Given the description of an element on the screen output the (x, y) to click on. 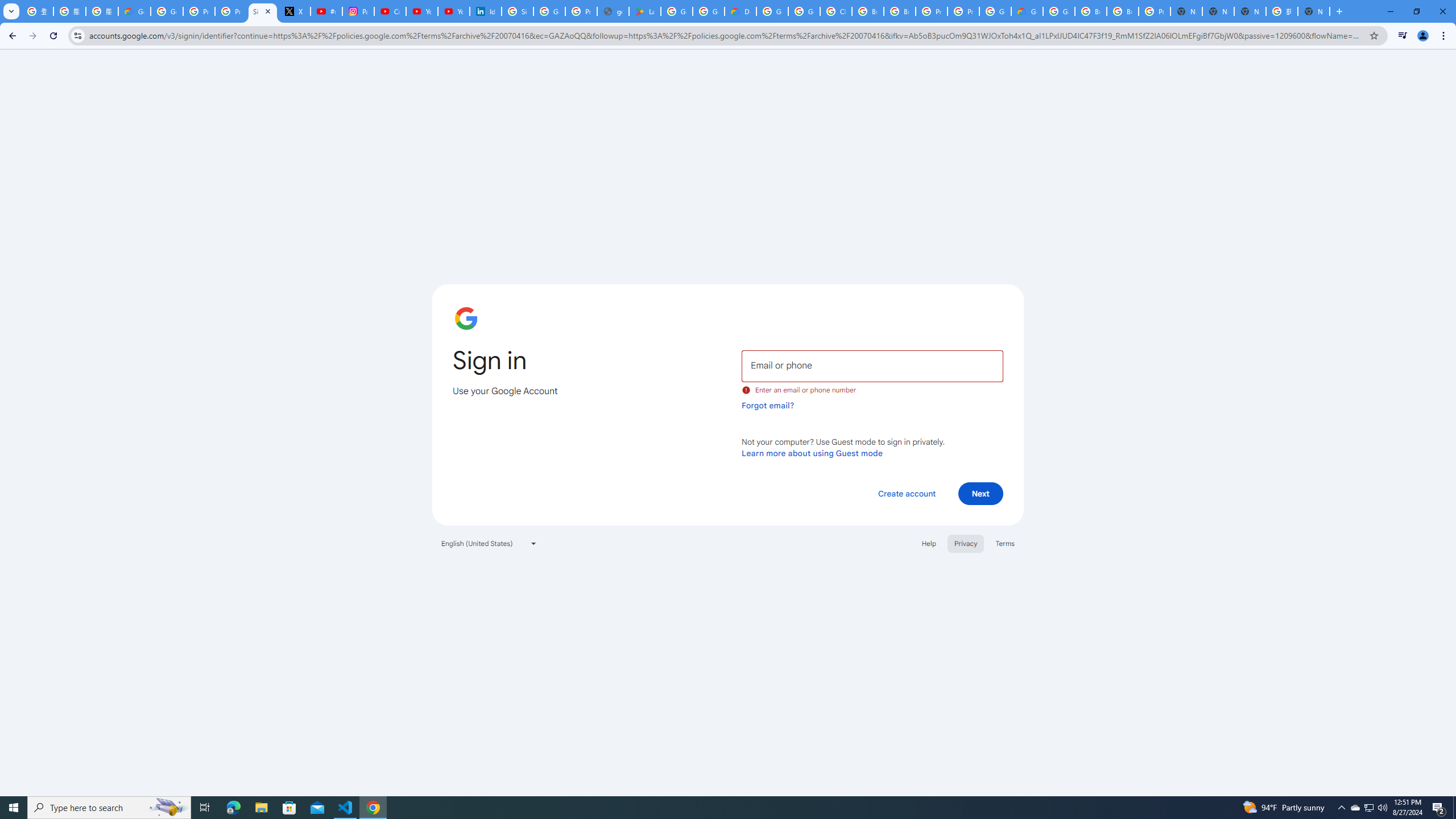
Browse Chrome as a guest - Computer - Google Chrome Help (868, 11)
Next (980, 493)
Browse Chrome as a guest - Computer - Google Chrome Help (1123, 11)
google_privacy_policy_en.pdf (613, 11)
Google Cloud Platform (995, 11)
Google Cloud Platform (772, 11)
Sign in - Google Accounts (517, 11)
